Given the description of an element on the screen output the (x, y) to click on. 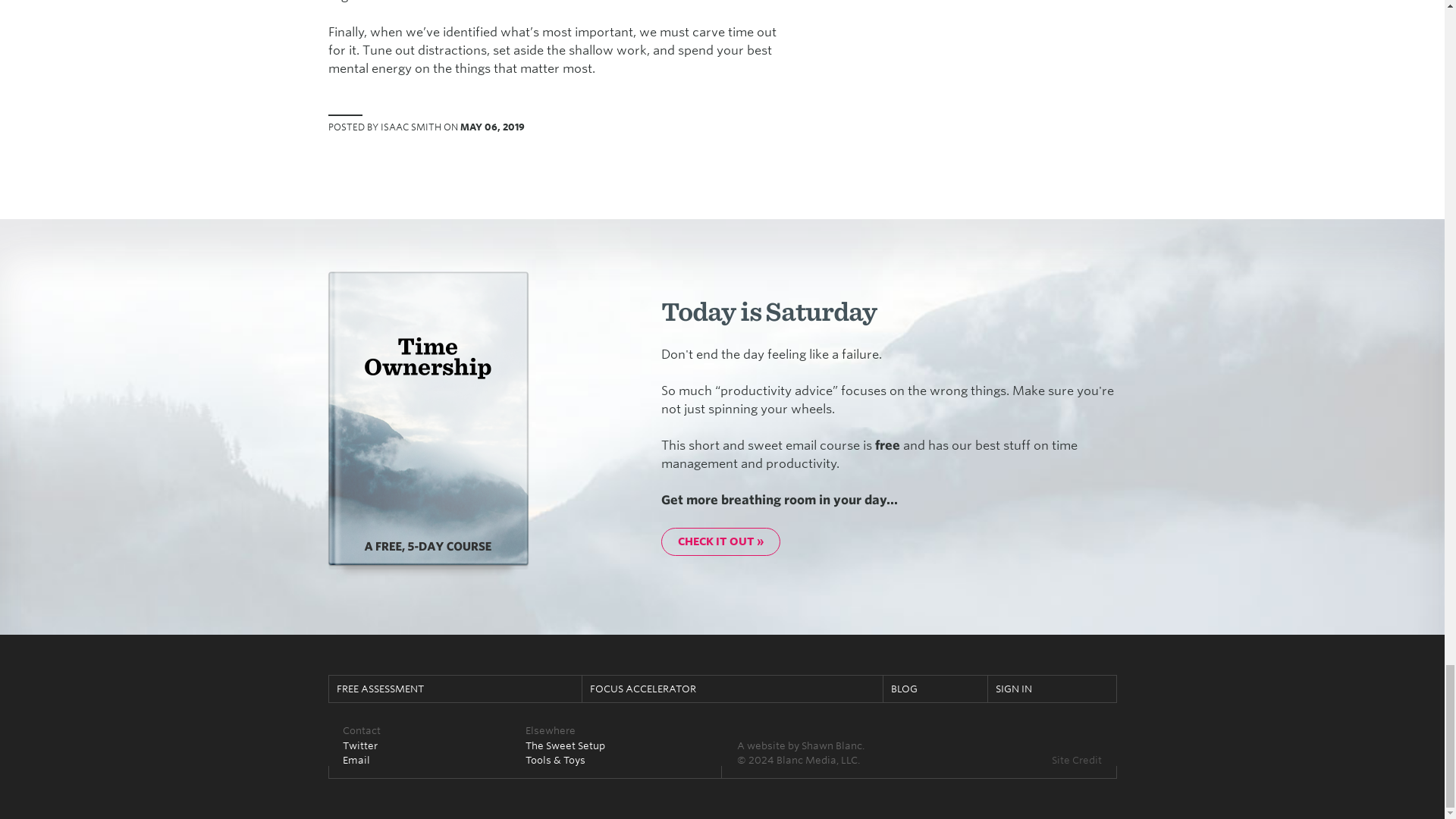
Site Credit (1076, 759)
The Sweet Setup (564, 745)
Email (355, 759)
Twitter (359, 745)
MAY 06, 2019 (492, 126)
SIGN IN (1052, 688)
BLOG (935, 688)
FOCUS ACCELERATOR (732, 688)
FREE ASSESSMENT (455, 688)
